Given the description of an element on the screen output the (x, y) to click on. 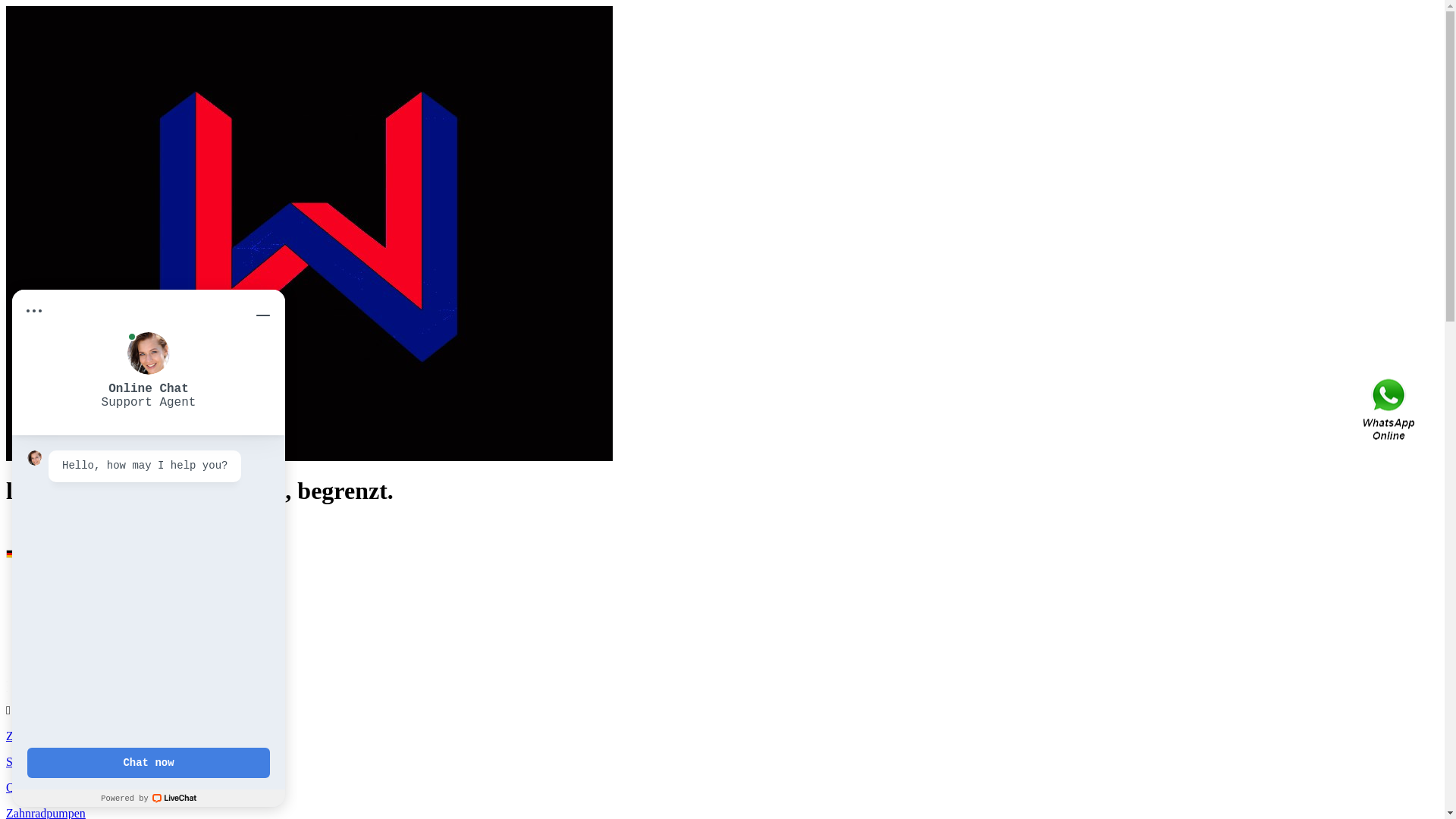
Zahnradpumpen Element type: text (76, 647)
Zahnradpumpen Element type: text (106, 606)
Contact Us Element type: hover (1389, 409)
Stock Categories Element type: text (77, 592)
Zuhause Element type: text (56, 579)
Stock Categories Element type: text (47, 761)
Hydraulikpumpe auf Lager Element type: text (102, 661)
leader hydraulikpumpe co., begrenzt. Element type: hover (309, 456)
Zuhause Element type: text (26, 735)
Hydraulikpumpe auf Lager Element type: text (132, 620)
